Given the description of an element on the screen output the (x, y) to click on. 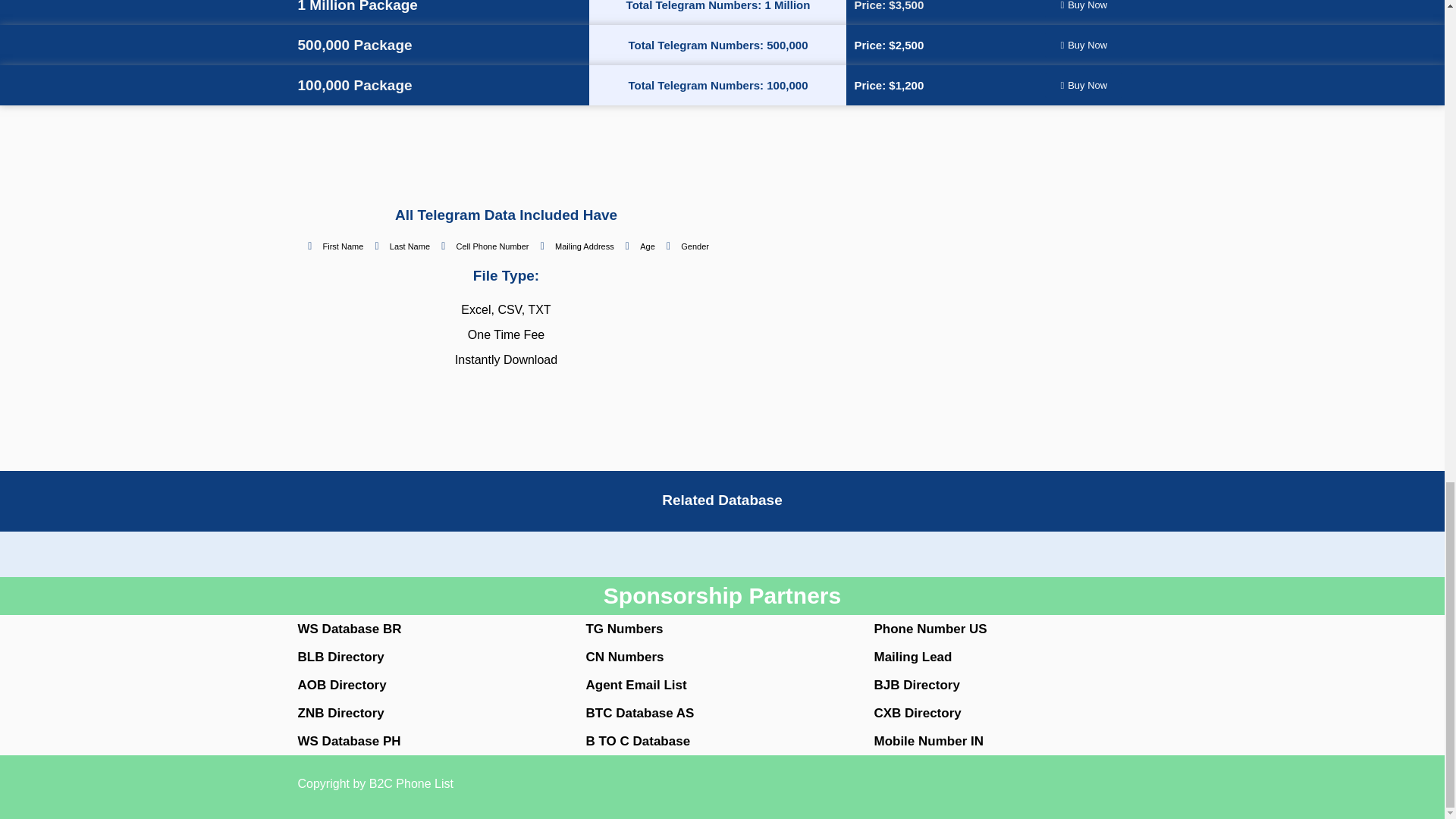
AOB Directory (341, 685)
Phone Number US (930, 628)
Buy Now (1083, 8)
BTC Database AS (639, 712)
BJB Directory (916, 685)
CN Numbers (624, 657)
BLB Directory (340, 657)
Agent Email List (635, 685)
Buy Now (1083, 84)
WS Database BR (349, 628)
Mailing Lead (912, 657)
ZNB Directory (340, 712)
B TO C Database (637, 740)
CXB Directory (916, 712)
TG Numbers (623, 628)
